Given the description of an element on the screen output the (x, y) to click on. 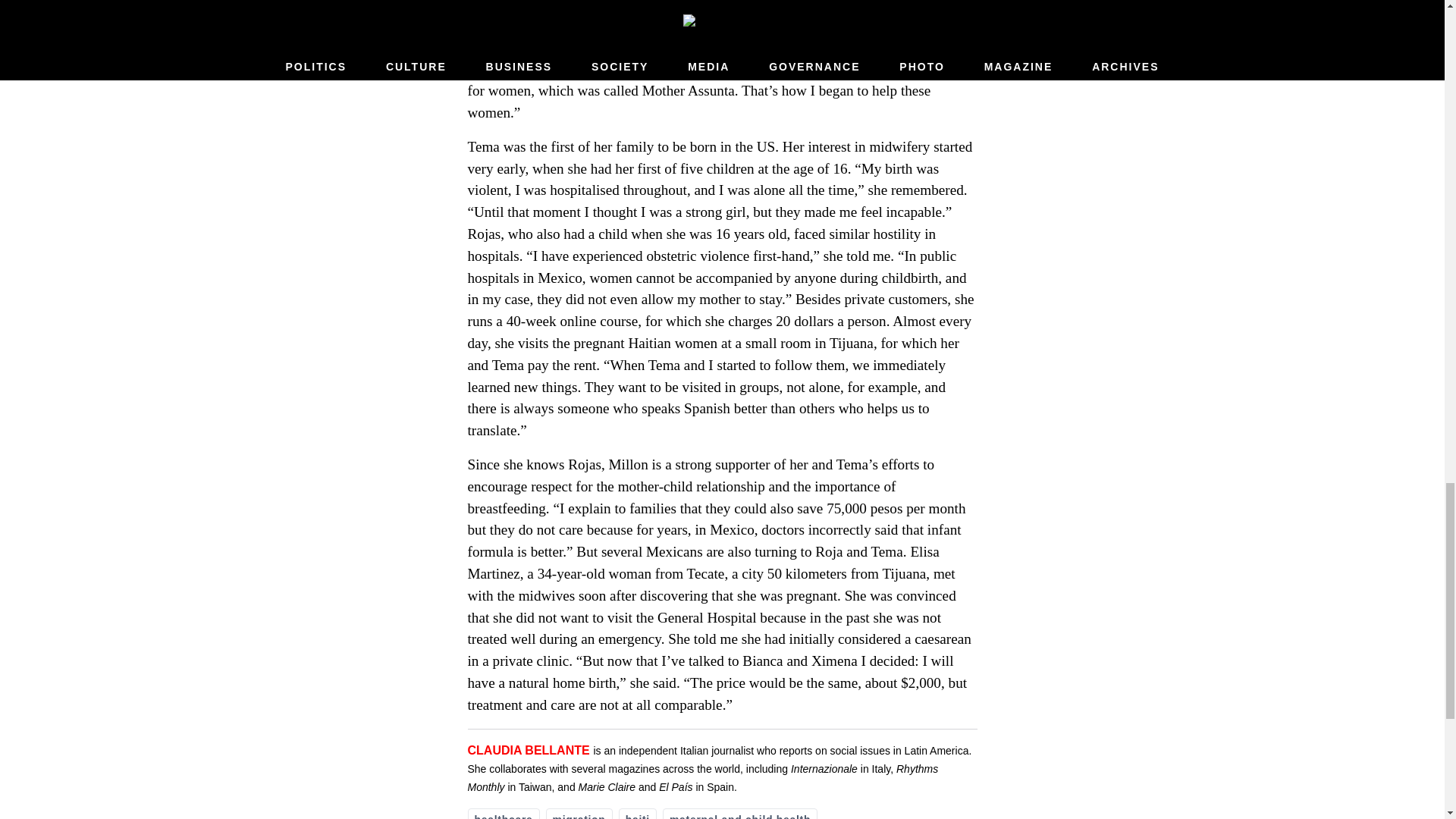
haiti (637, 813)
healthcare (502, 813)
CLAUDIA BELLANTE (528, 749)
maternal and child health (739, 813)
migration (579, 813)
